Given the description of an element on the screen output the (x, y) to click on. 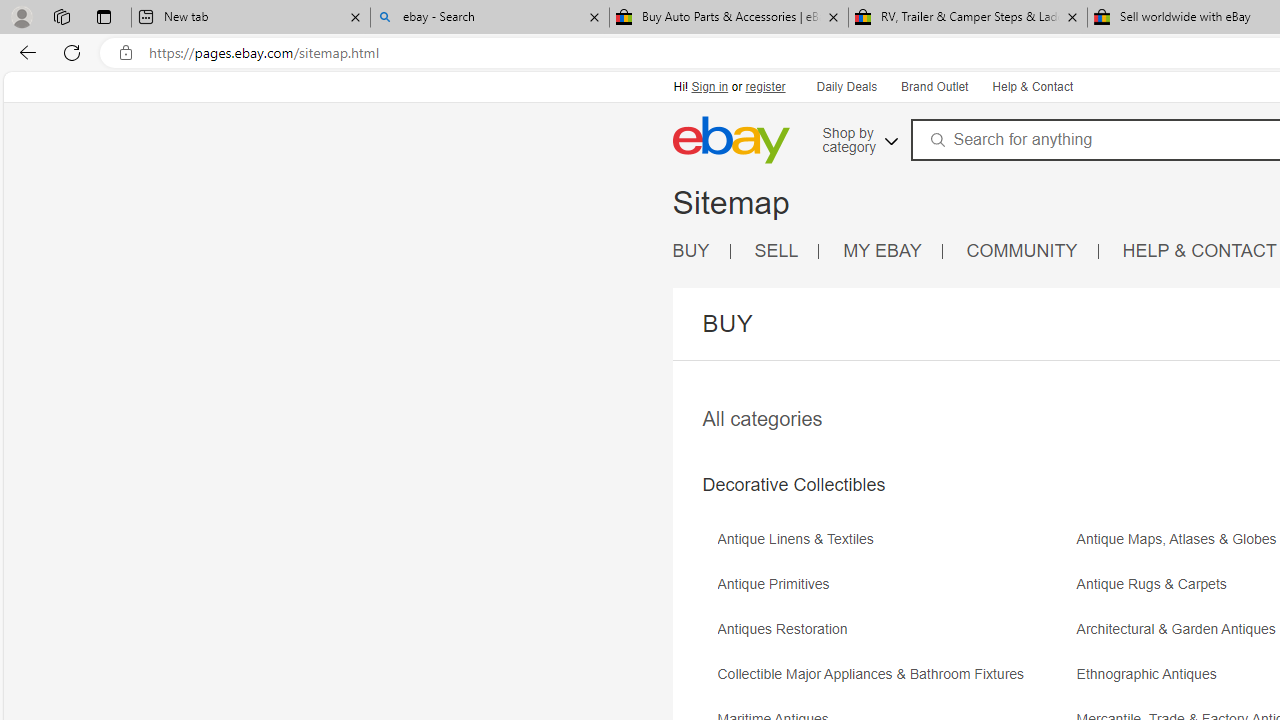
Antique Primitives (777, 583)
Antique Linens & Textiles (894, 546)
Antiques Restoration (894, 636)
Daily Deals (846, 86)
SELL (786, 251)
COMMUNITY (1021, 250)
Help & Contact (1032, 88)
eBay Logo (730, 139)
Collectible Major Appliances & Bathroom Fixtures (894, 681)
All categories (762, 418)
